Given the description of an element on the screen output the (x, y) to click on. 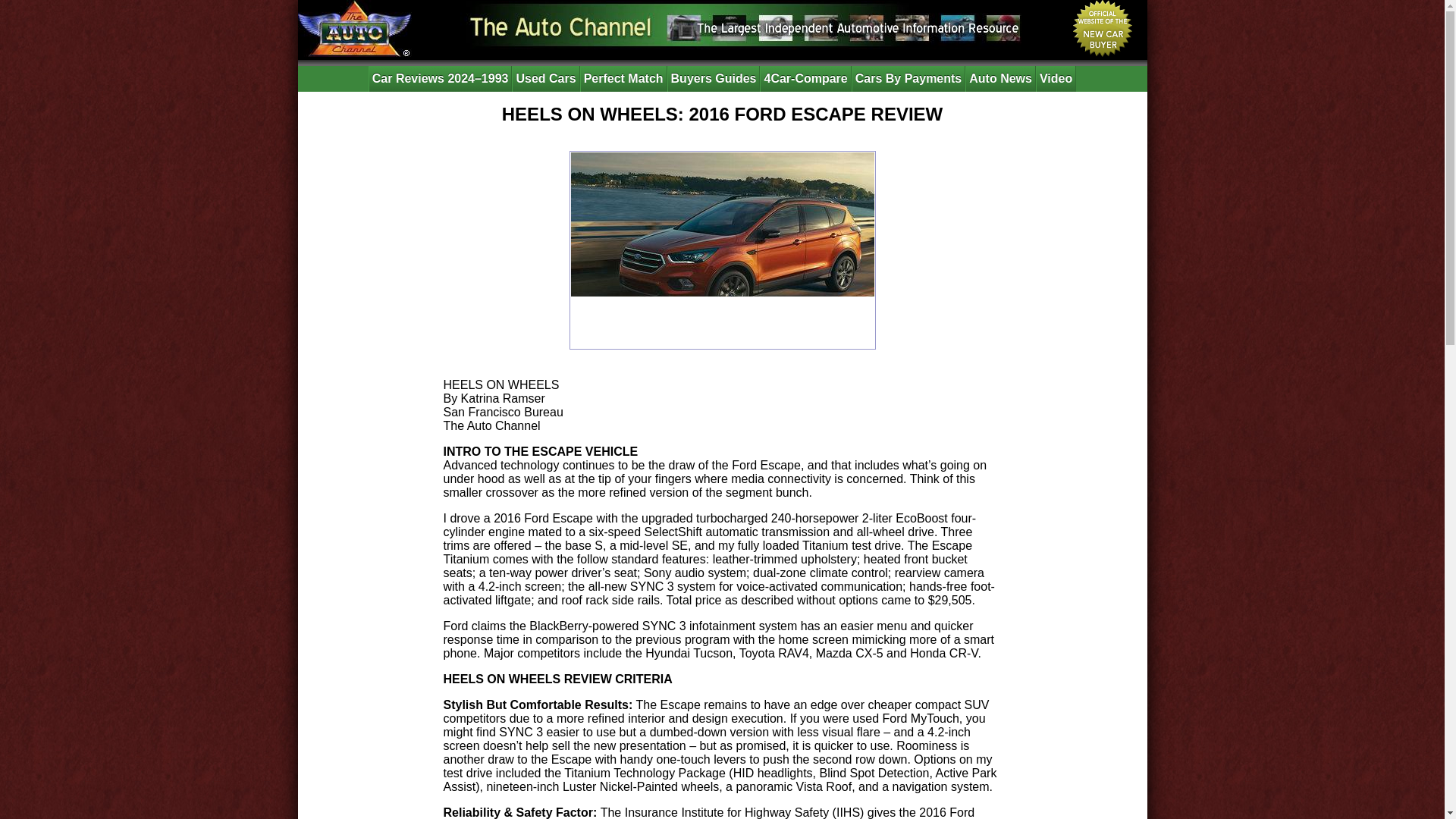
Used Cars (545, 78)
Perfect Match (622, 78)
Specs, Prices, Comparisons, Reviews, Crash Test Results (713, 78)
The Auto Channel (353, 28)
Buyers Guides (713, 78)
